Given the description of an element on the screen output the (x, y) to click on. 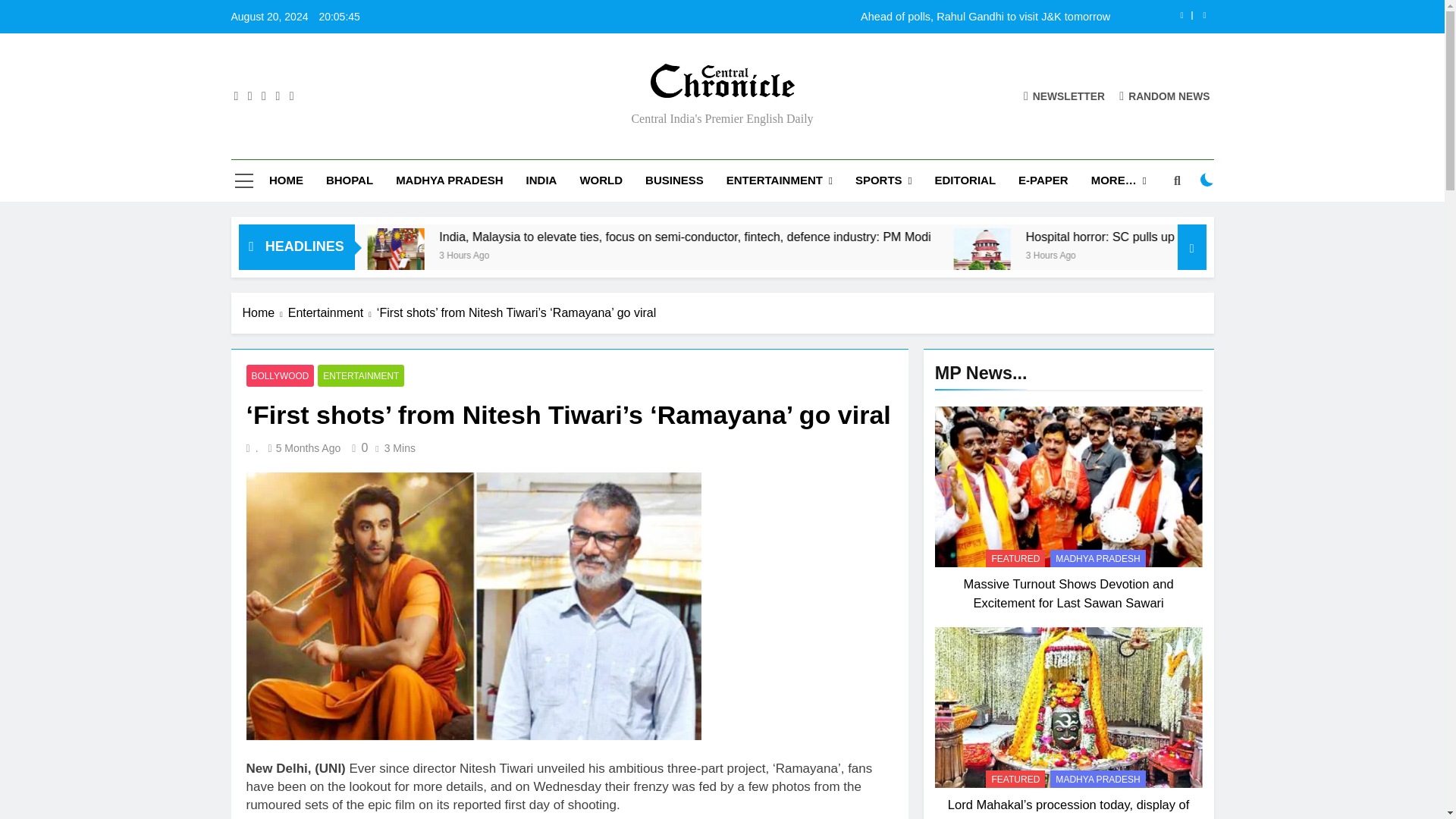
WORLD (600, 179)
on (1206, 179)
BHOPAL (349, 179)
NEWSLETTER (1064, 95)
SPORTS (883, 180)
INDIA (542, 179)
BUSINESS (673, 179)
